Given the description of an element on the screen output the (x, y) to click on. 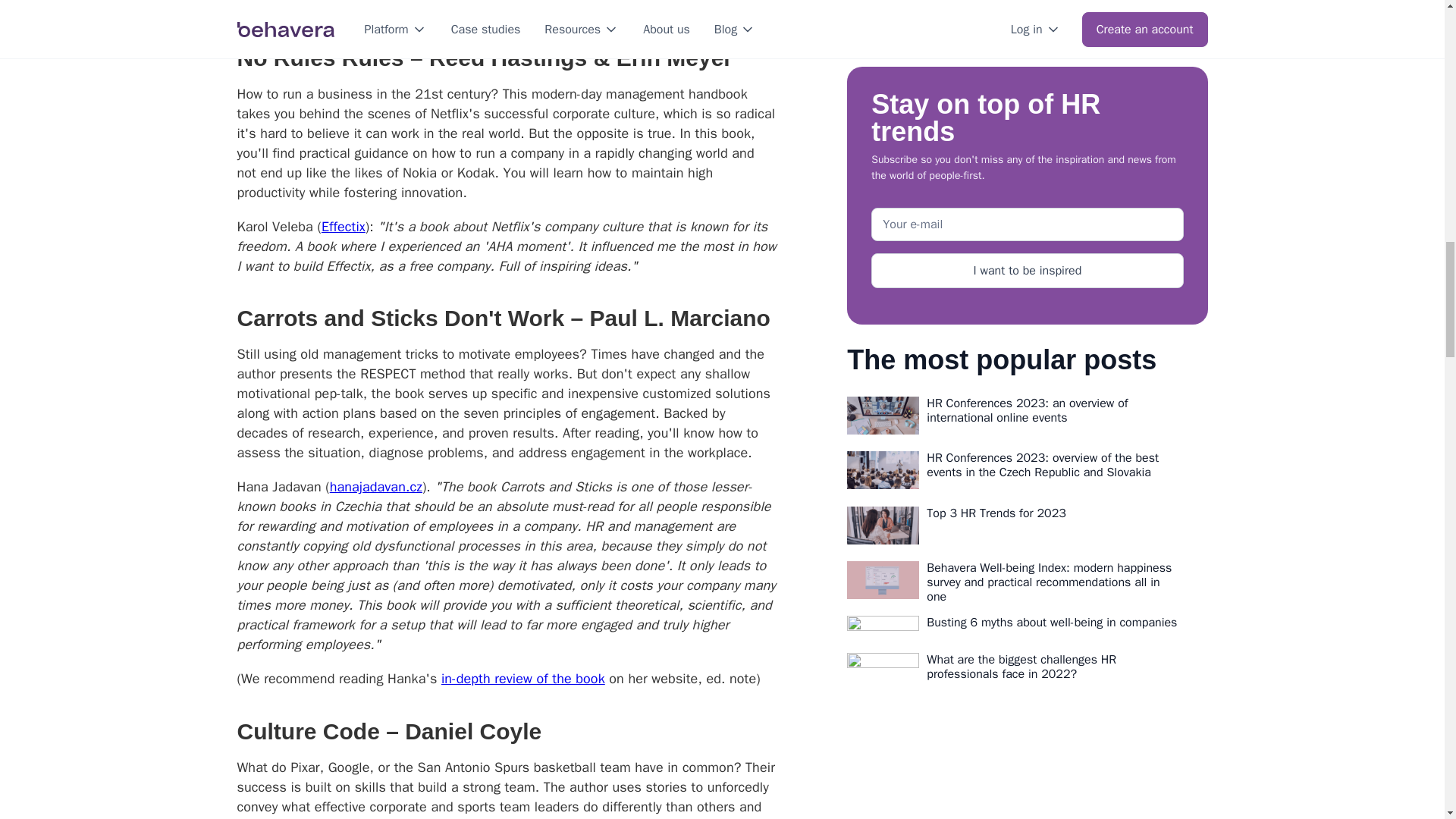
in-depth review of the book (523, 678)
Effectix (343, 226)
hanajadavan.cz (376, 486)
